Given the description of an element on the screen output the (x, y) to click on. 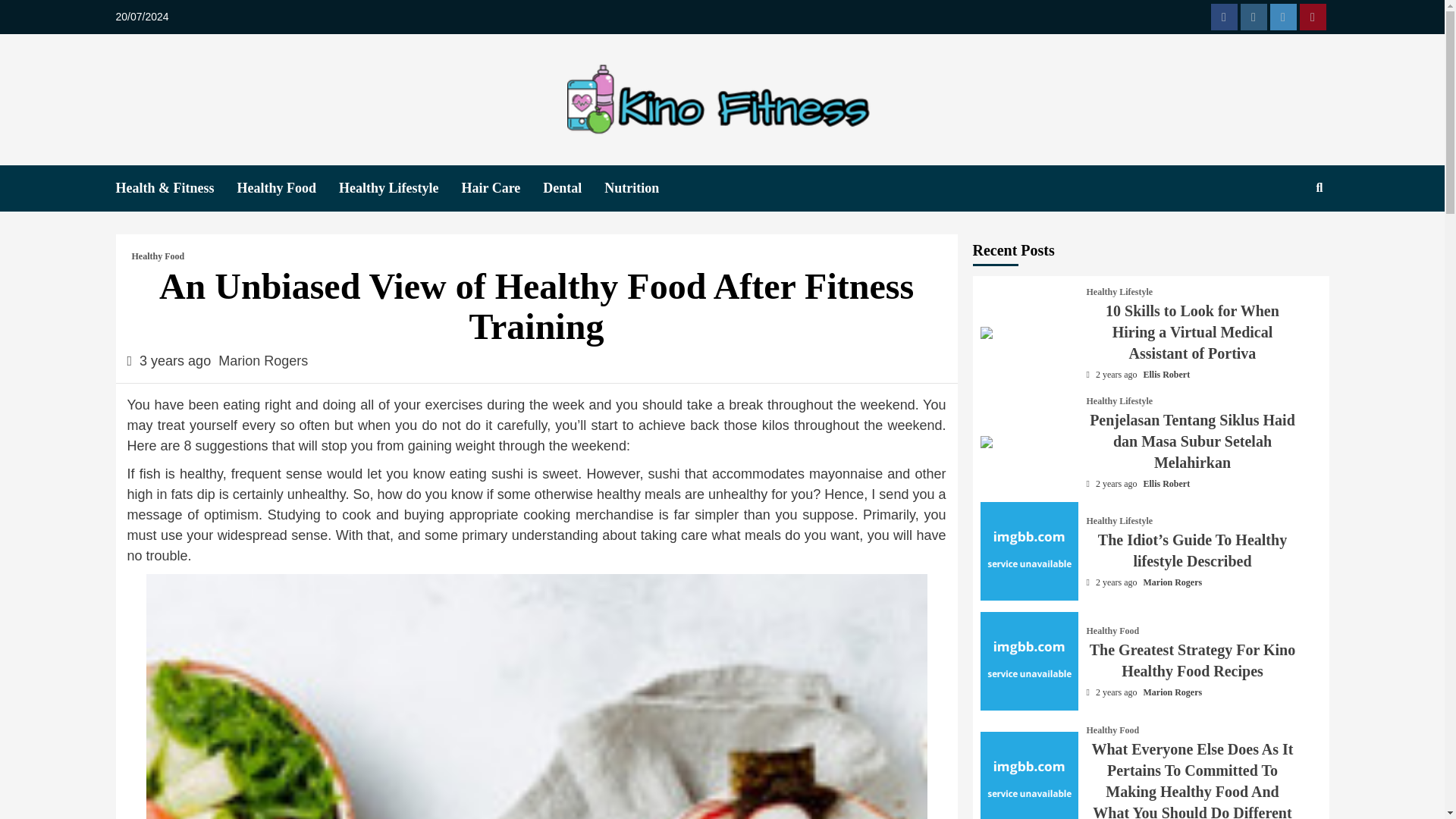
Instagram (1253, 17)
Hair Care (502, 188)
Facebook (1222, 17)
Twitter (1282, 17)
Pinterest (1313, 17)
Healthy Lifestyle (400, 188)
Search (1283, 245)
Nutrition (642, 188)
Healthy Food (158, 255)
Healthy Food (287, 188)
Dental (573, 188)
Marion Rogers (262, 360)
